Given the description of an element on the screen output the (x, y) to click on. 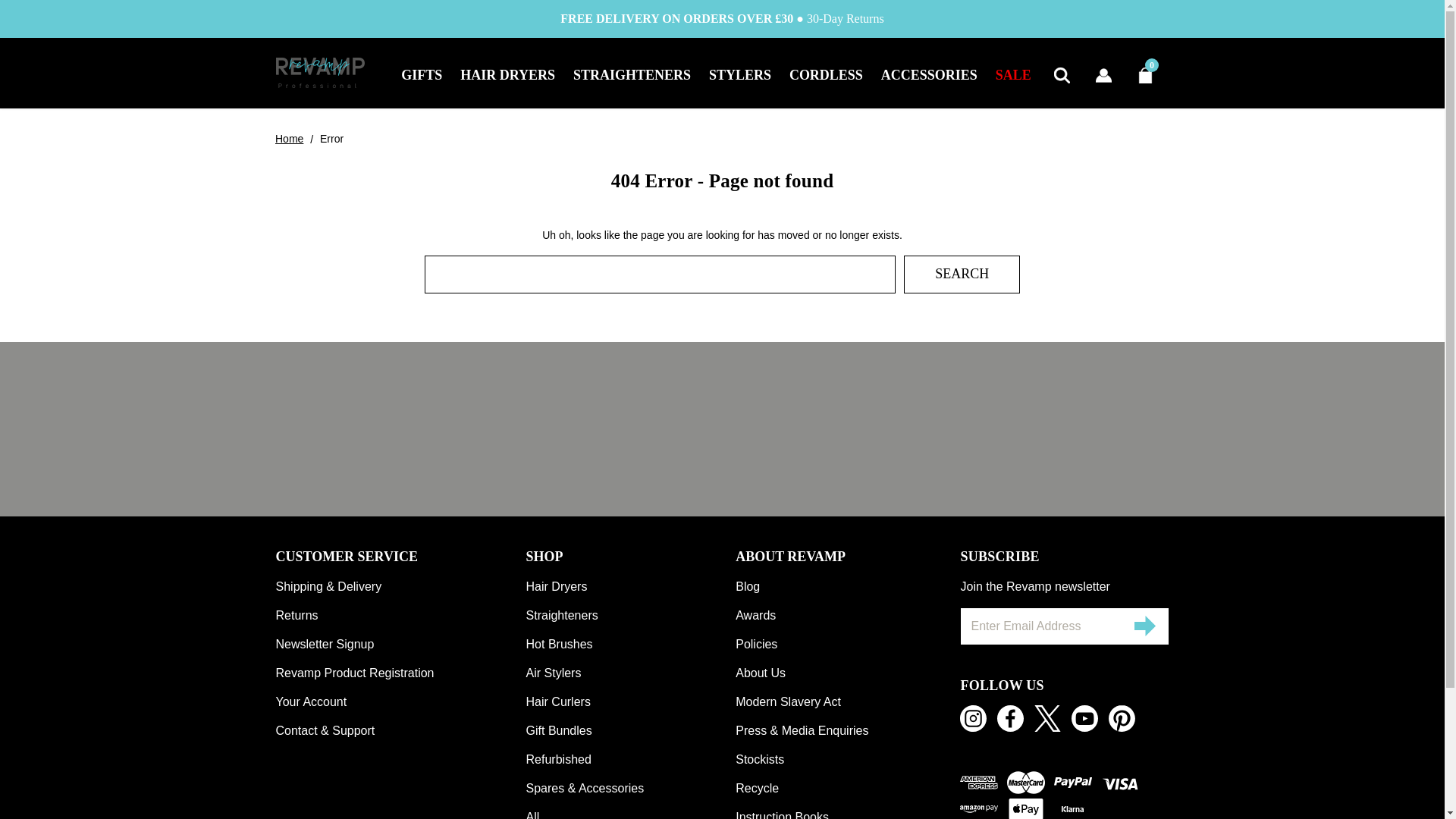
CORDLESS (826, 72)
Newsletter Signup (400, 643)
30-Day Returns (844, 18)
Returns (400, 614)
Revamp Product Registration (400, 672)
HAIR DRYERS (507, 72)
Customer reviews powered by Trustpilot (722, 428)
CUSTOMER SERVICE (400, 556)
STYLERS (740, 72)
RevampHair.com (320, 72)
Home (288, 138)
ACCESSORIES (929, 72)
Search (962, 273)
STRAIGHTENERS (632, 72)
Search (962, 273)
